Given the description of an element on the screen output the (x, y) to click on. 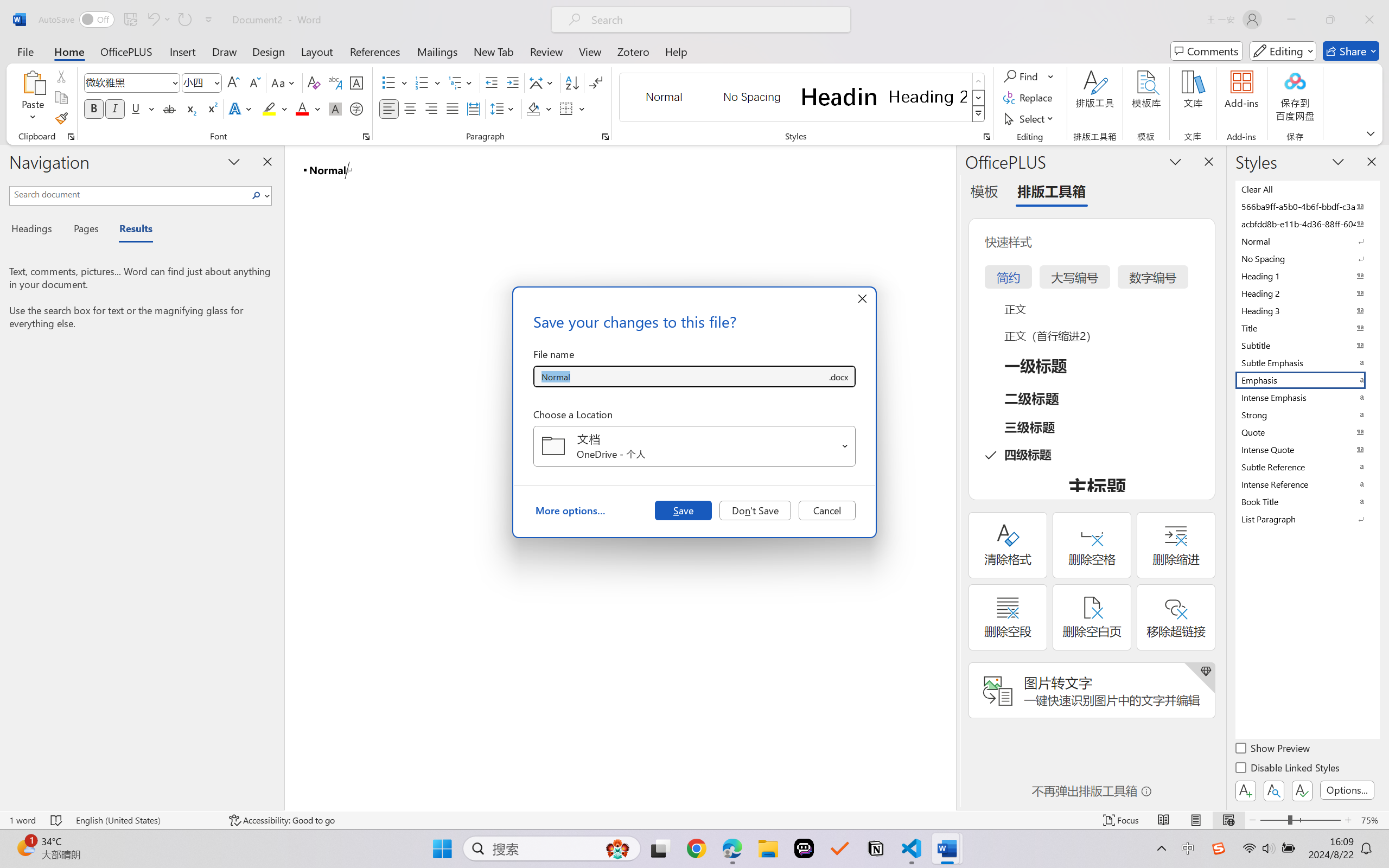
Select (1030, 118)
Format Painter (60, 118)
Styles (978, 113)
Google Chrome (696, 848)
Decrease Indent (491, 82)
References (375, 51)
Title (1306, 327)
Find (1029, 75)
Italic (115, 108)
Web Layout (1228, 819)
Save as type (837, 376)
Paste (33, 97)
Strong (1306, 414)
